Given the description of an element on the screen output the (x, y) to click on. 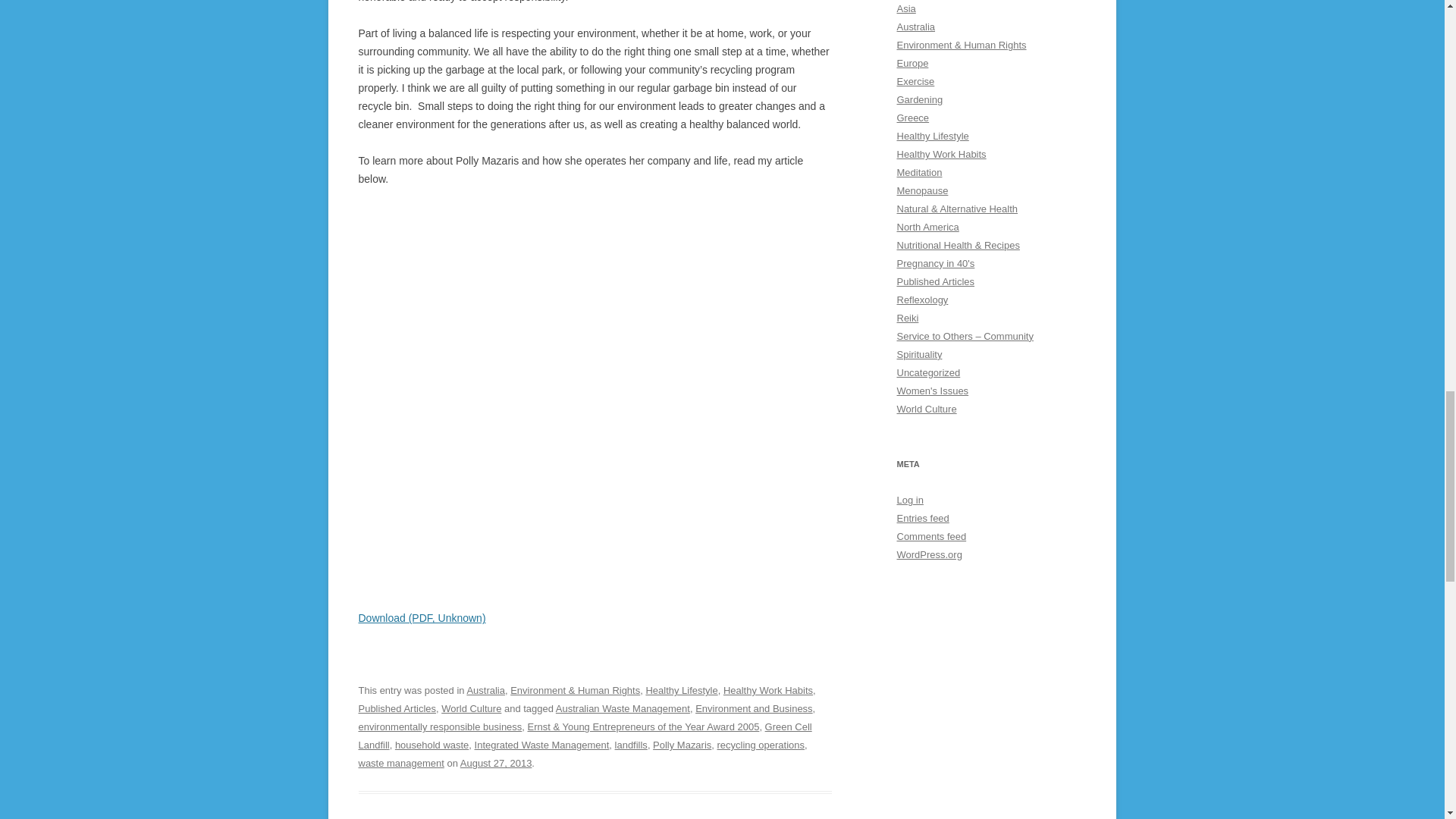
Australia (485, 690)
Healthy Lifestyle (681, 690)
Healthy Work Habits (767, 690)
World Culture (470, 708)
environmentally responsible business (439, 726)
Environment and Business (753, 708)
5:30 pm (496, 763)
Published Articles (396, 708)
Australian Waste Management (623, 708)
